Given the description of an element on the screen output the (x, y) to click on. 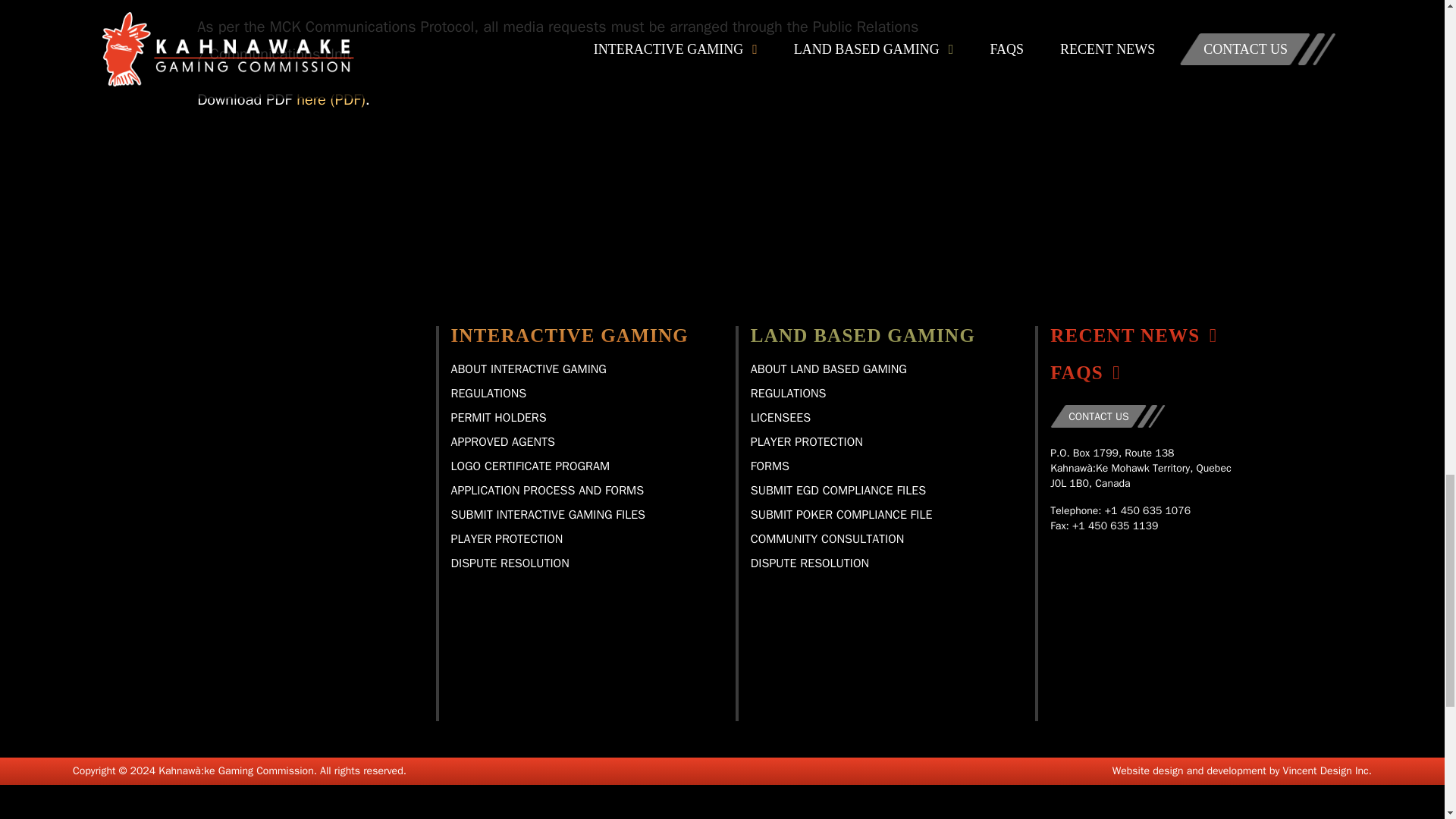
here (331, 99)
